Given the description of an element on the screen output the (x, y) to click on. 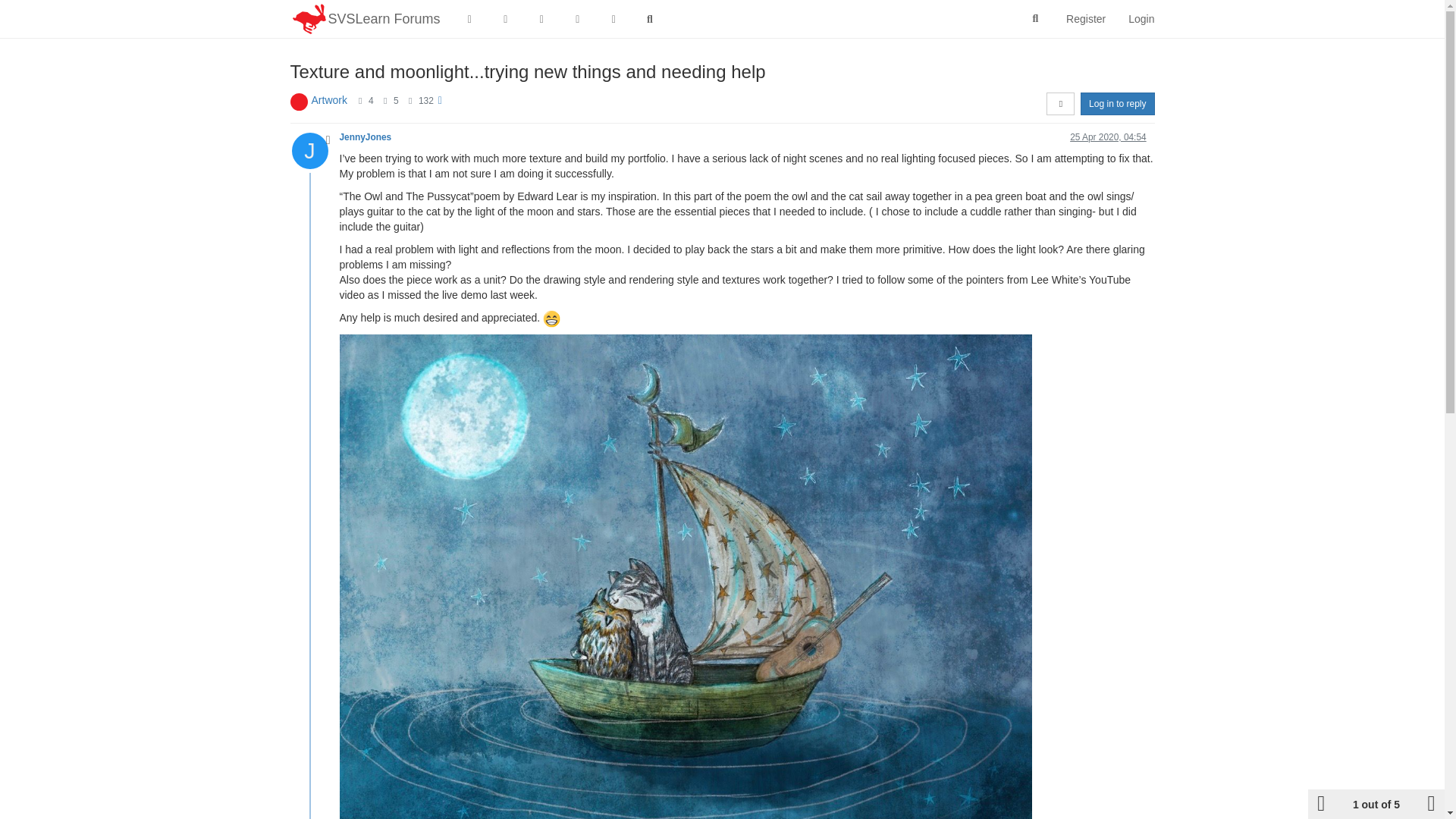
Search (1035, 18)
Artwork (328, 100)
Log in to reply (1117, 103)
Register (1085, 18)
JennyJones (365, 136)
25 Apr 2020, 04:54 (1108, 136)
J (315, 150)
Login (1141, 18)
